Given the description of an element on the screen output the (x, y) to click on. 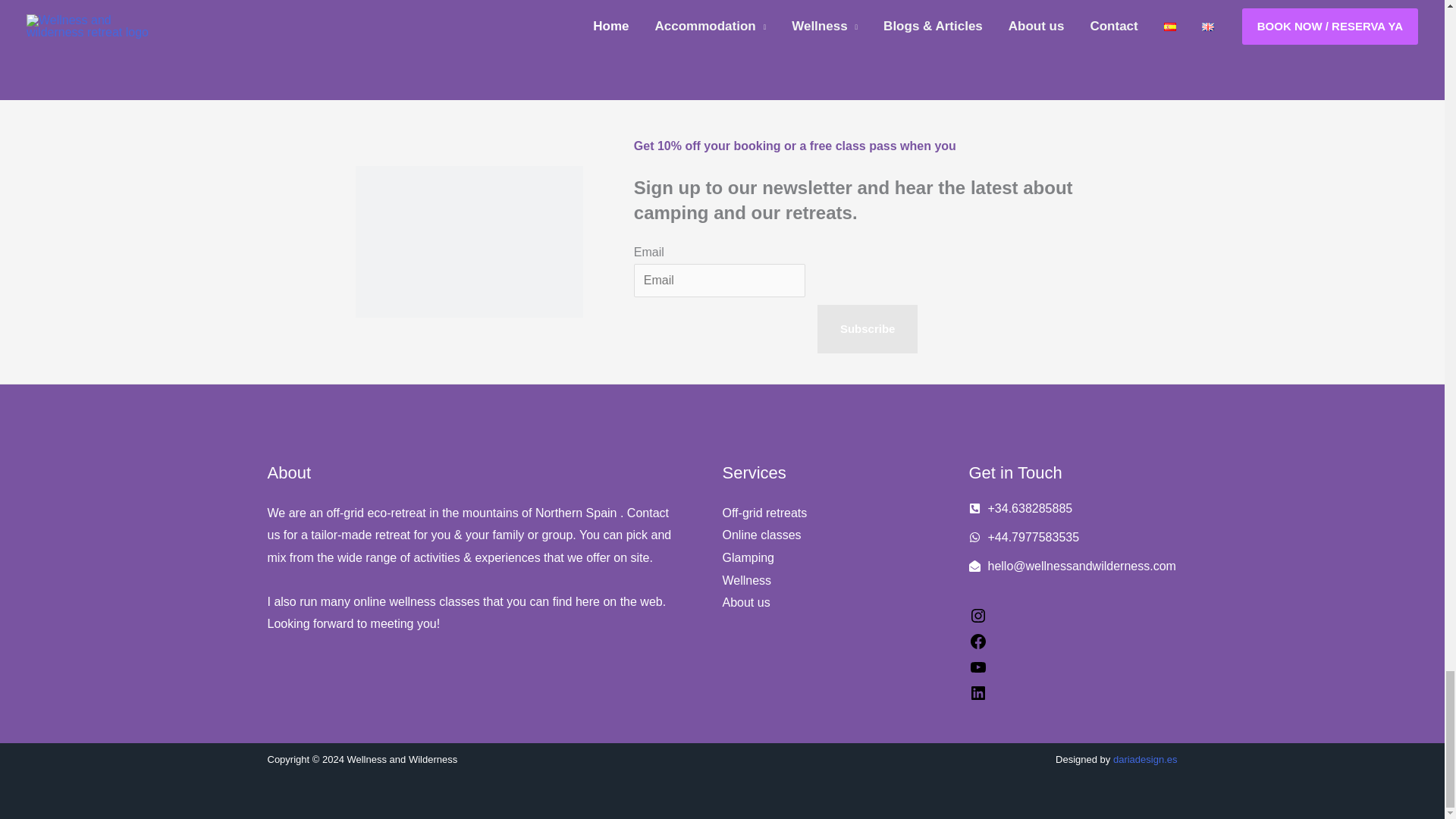
Subscribe (867, 328)
